Given the description of an element on the screen output the (x, y) to click on. 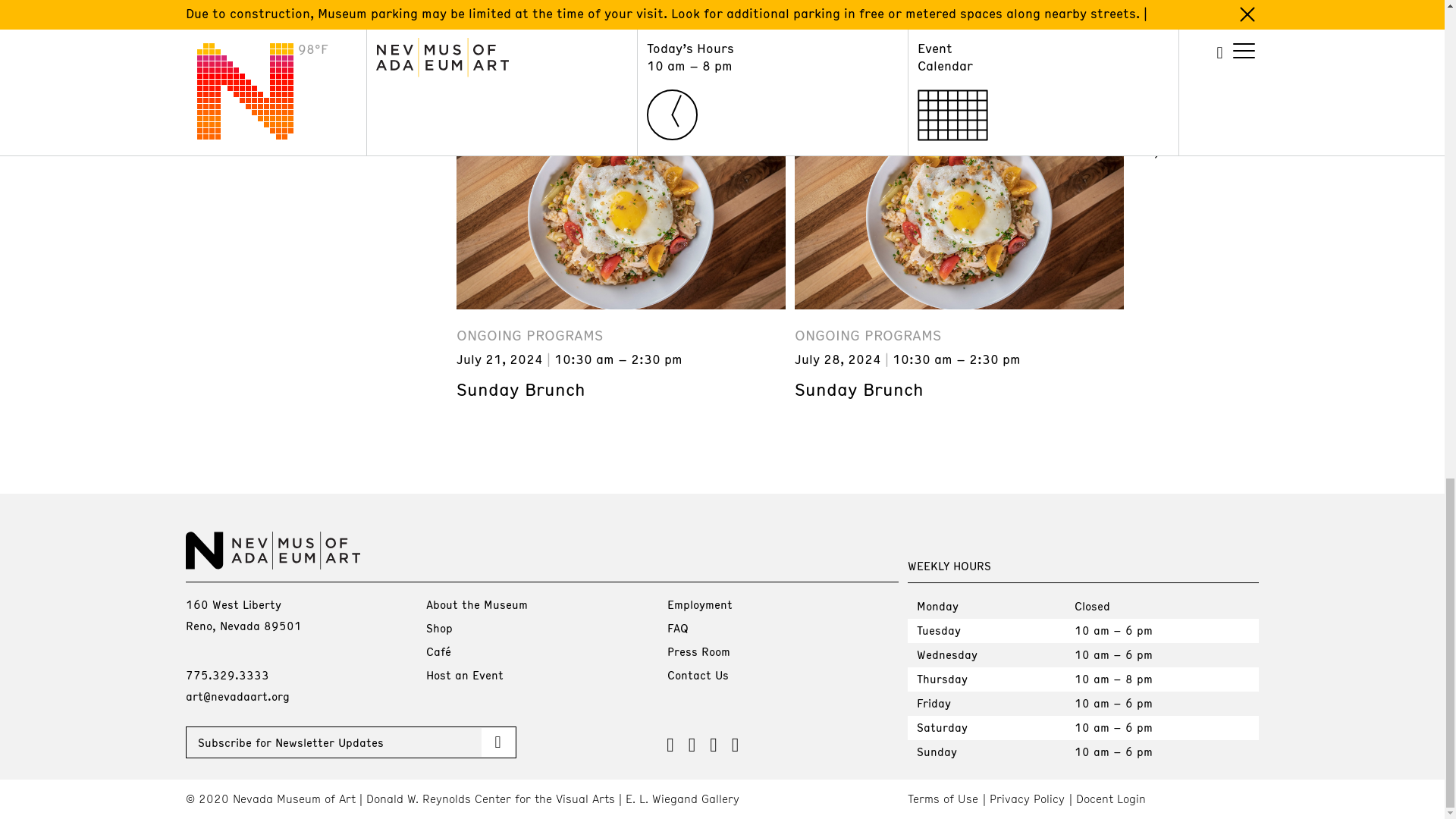
Employment (699, 603)
About the Museum (476, 603)
Host an Event (464, 674)
Shop (439, 627)
775.329.3333 (225, 674)
VIEW ALL (1195, 142)
